Given the description of an element on the screen output the (x, y) to click on. 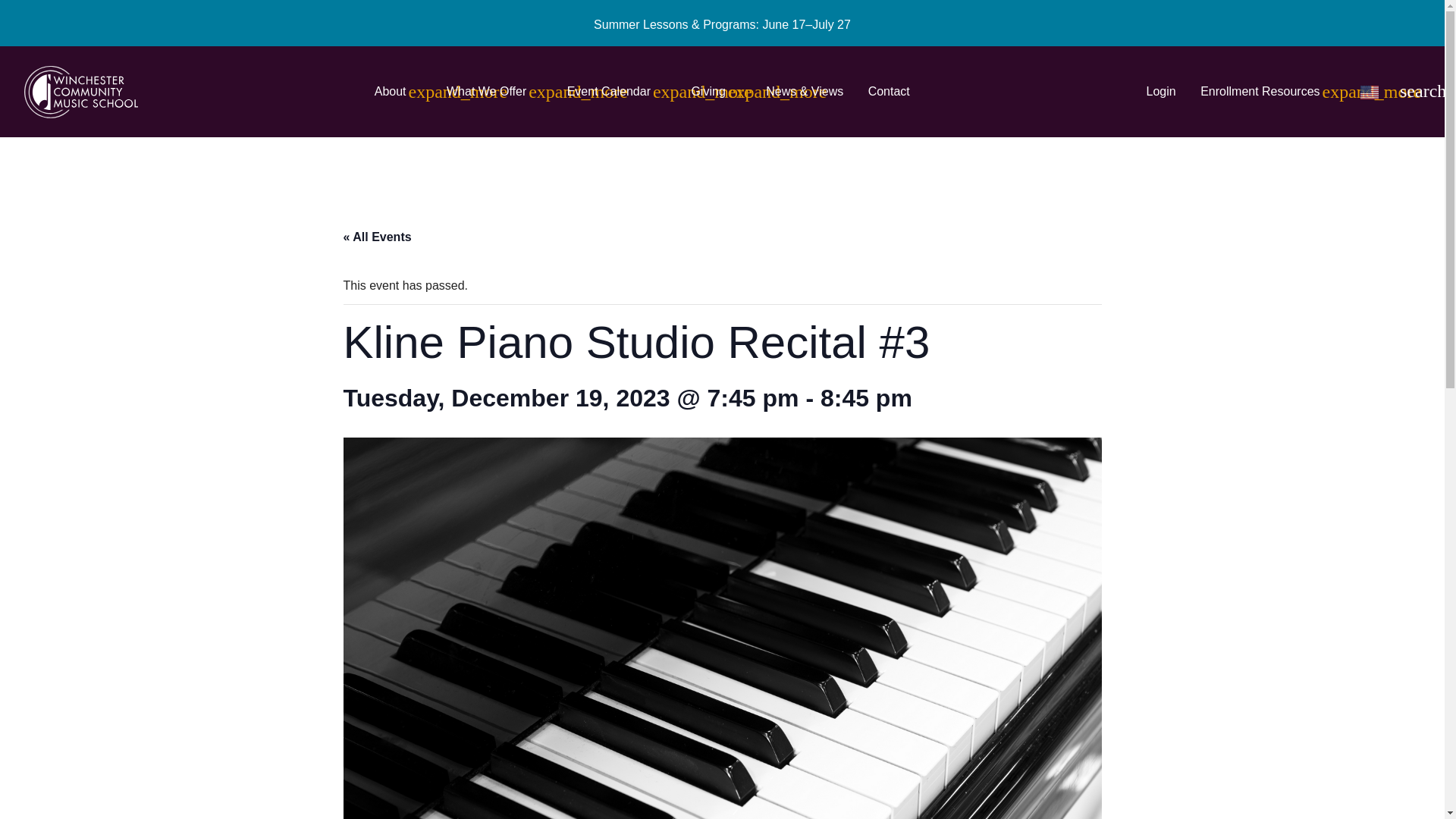
What We Offer (494, 91)
